Given the description of an element on the screen output the (x, y) to click on. 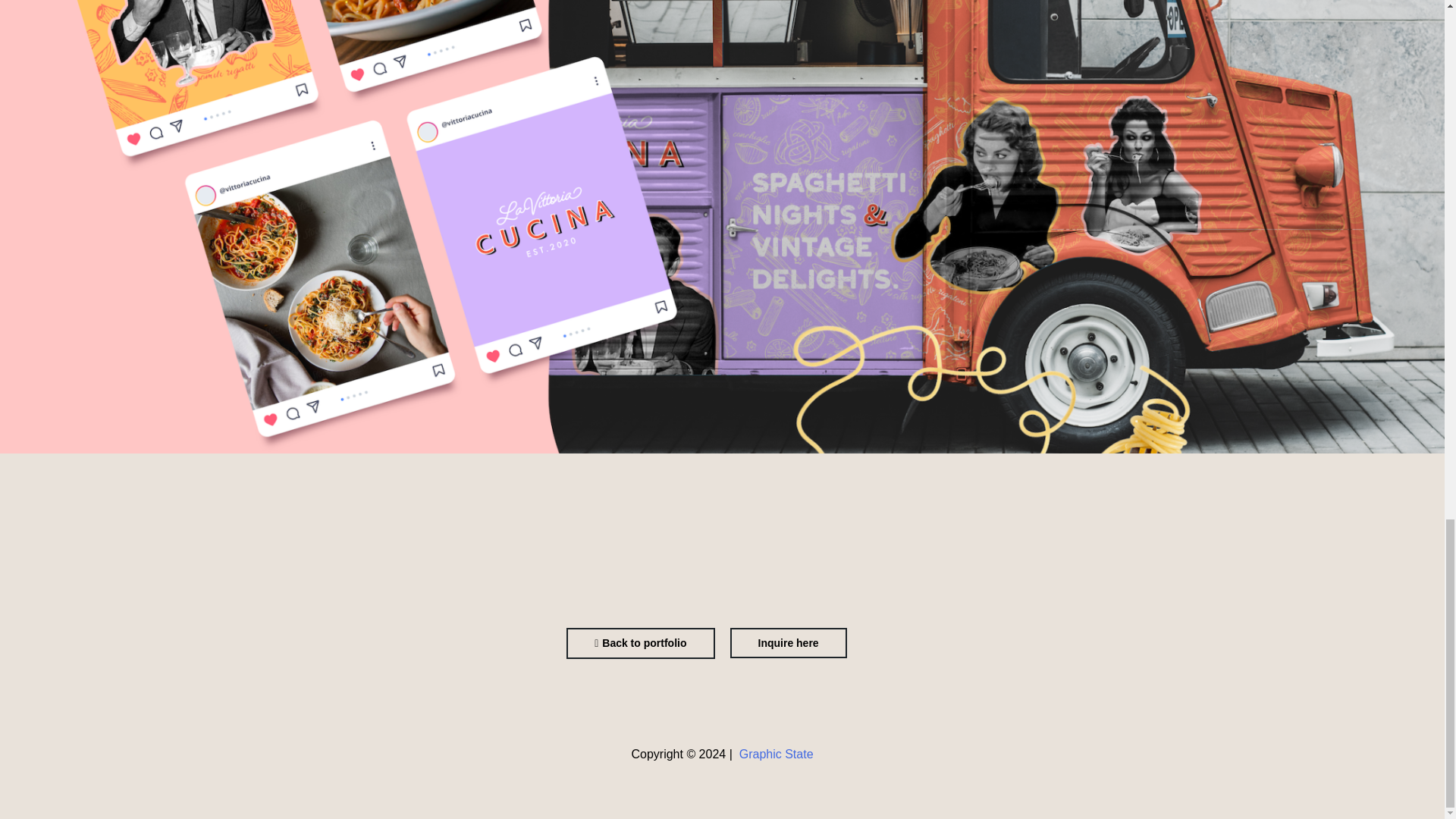
Back to portfolio (640, 643)
Graphic State (776, 753)
Inquire here (787, 643)
